Given the description of an element on the screen output the (x, y) to click on. 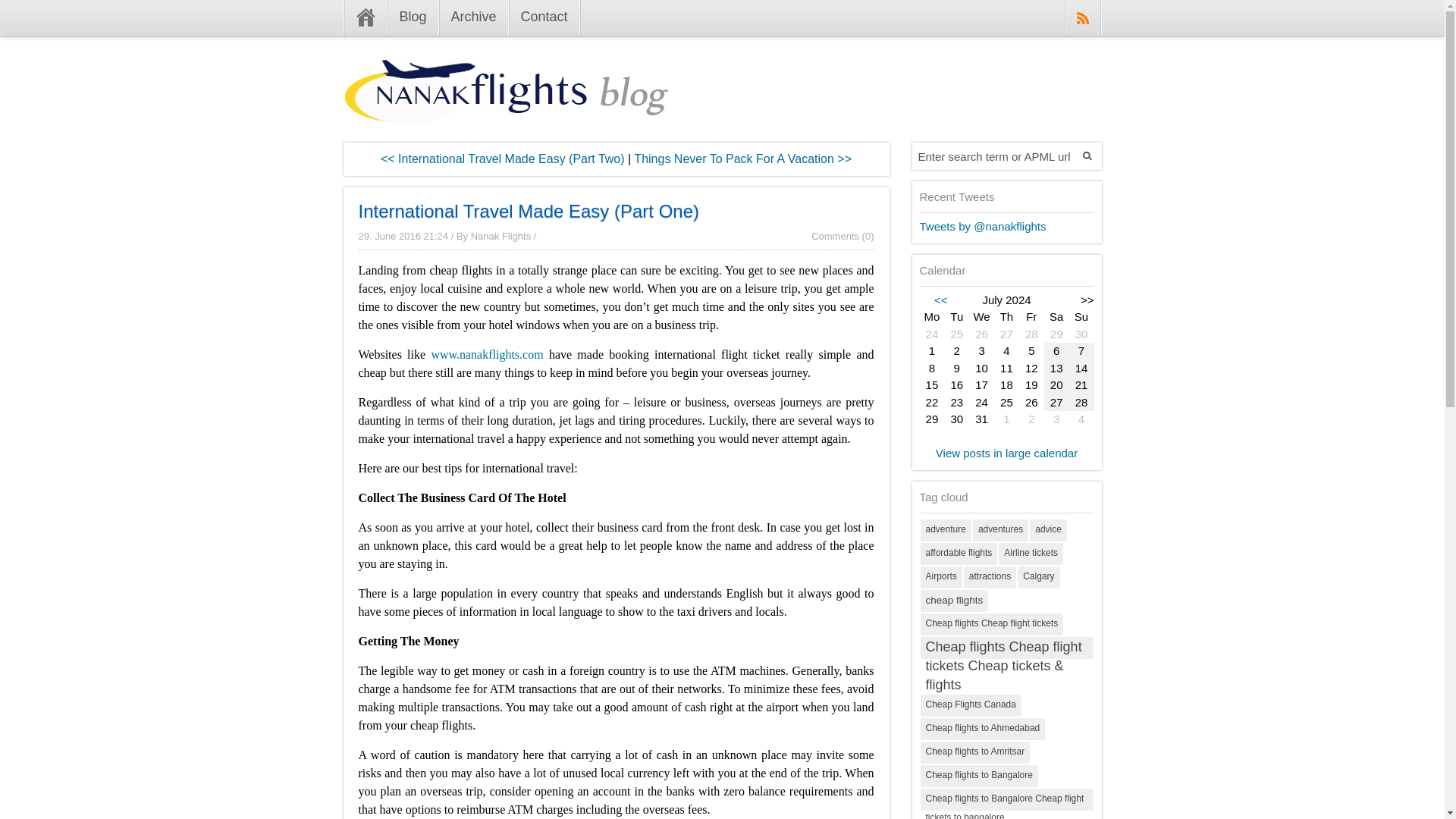
Cheap flights Cheap flight tickets (992, 623)
attractions (989, 576)
Cheap Flights Canada (971, 705)
advice (1048, 529)
Nanak Flights (500, 235)
adventures (999, 529)
Blog (413, 18)
www.nanakflights.com (486, 353)
Archive (473, 18)
Subscribe (1082, 18)
Contact (544, 18)
Previous post (742, 158)
Cheap flights to Bangalore (979, 775)
Cheap flights to Amritsar (975, 752)
Nanak Flights Blog (505, 111)
